Given the description of an element on the screen output the (x, y) to click on. 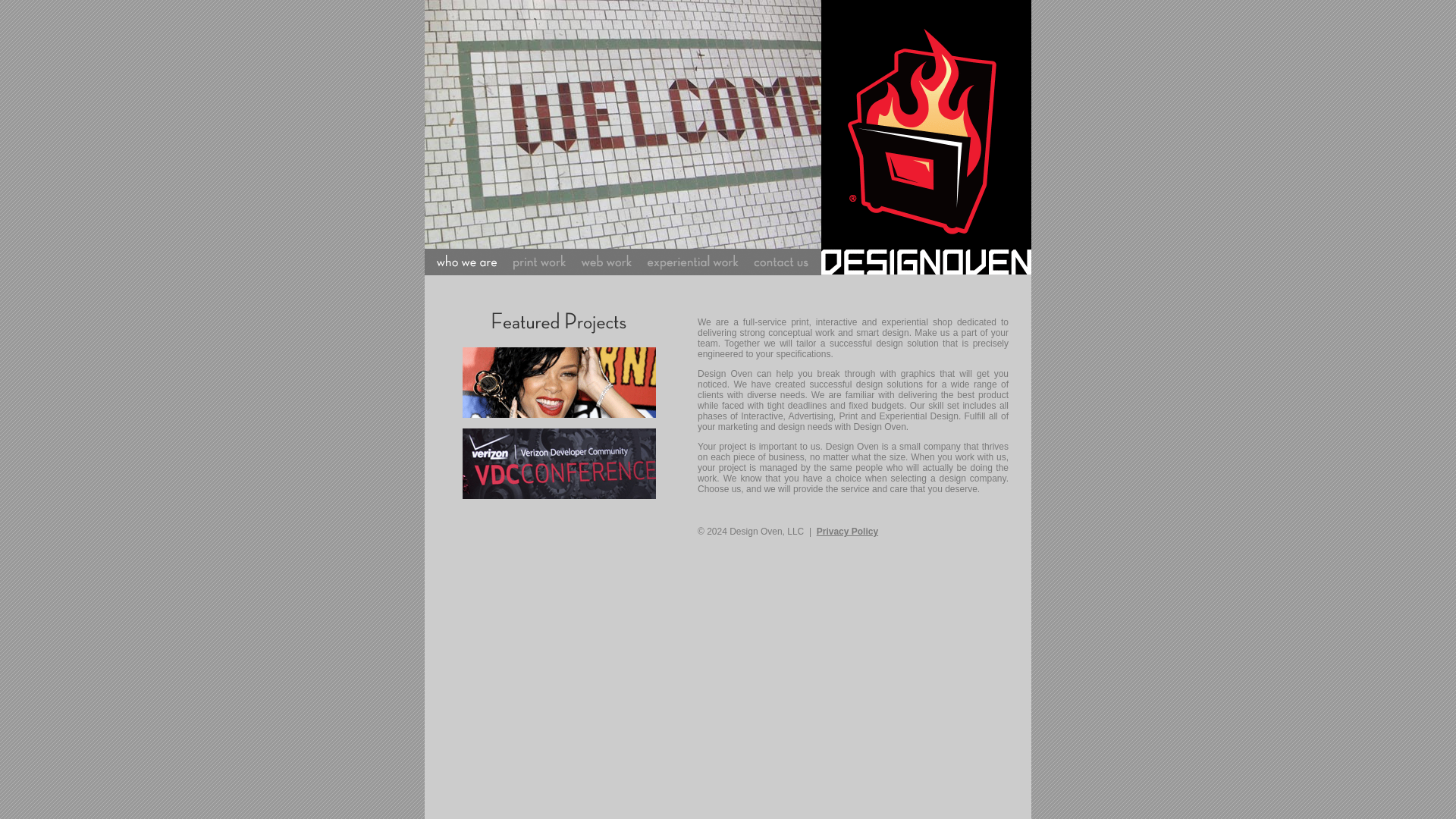
Privacy Policy (846, 531)
